Given the description of an element on the screen output the (x, y) to click on. 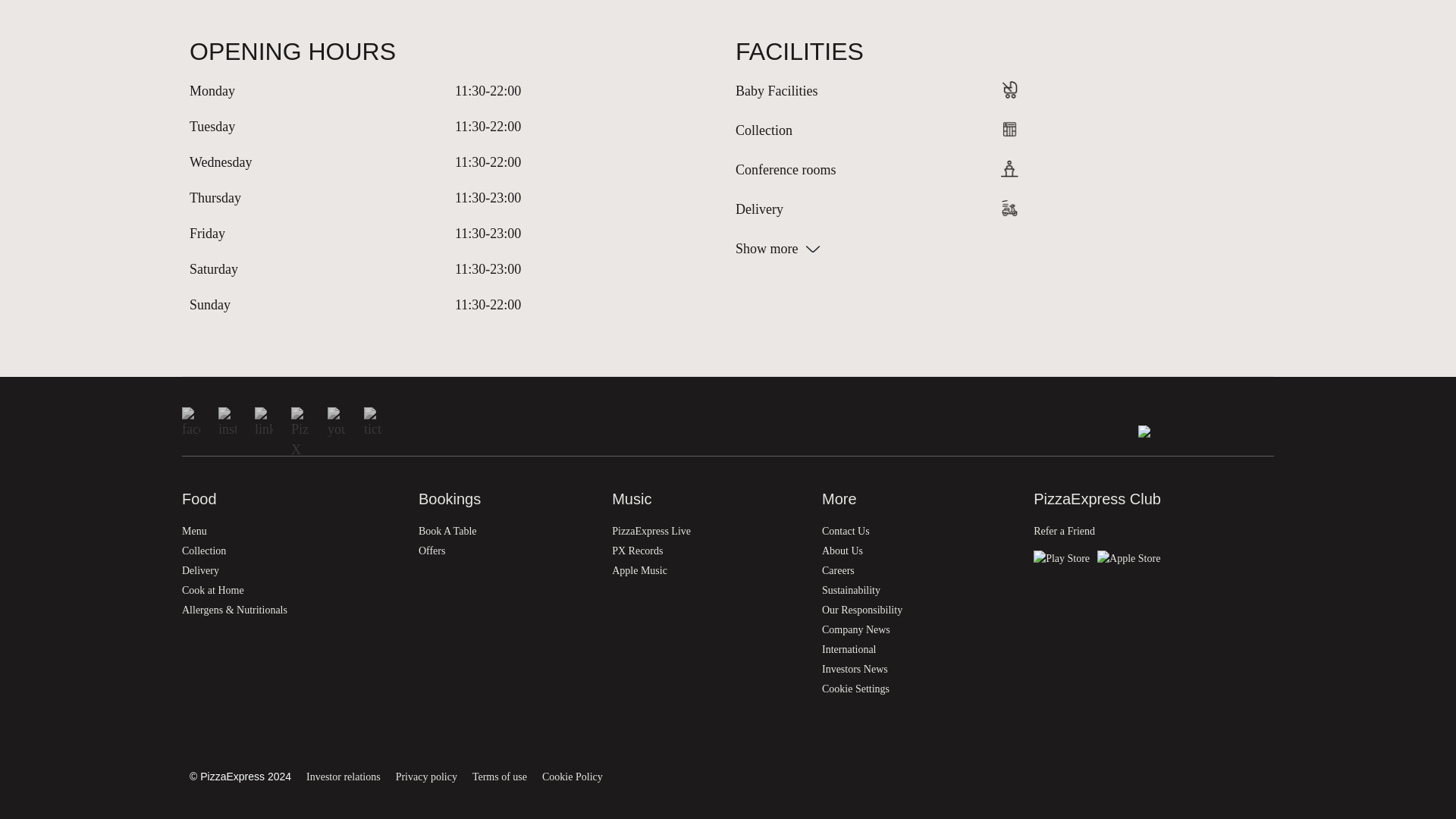
Delivery (291, 572)
Show more (1000, 249)
Click and collect (291, 552)
Book A Table (506, 532)
Menu (291, 532)
Cook at Home (291, 591)
Open Cookie Settings (918, 690)
Offers (506, 552)
PizzaExpress Live (707, 532)
PizzaExpress Live (707, 532)
Gifts (291, 591)
Collection (291, 552)
Allergens and nutritionals (291, 611)
